Given the description of an element on the screen output the (x, y) to click on. 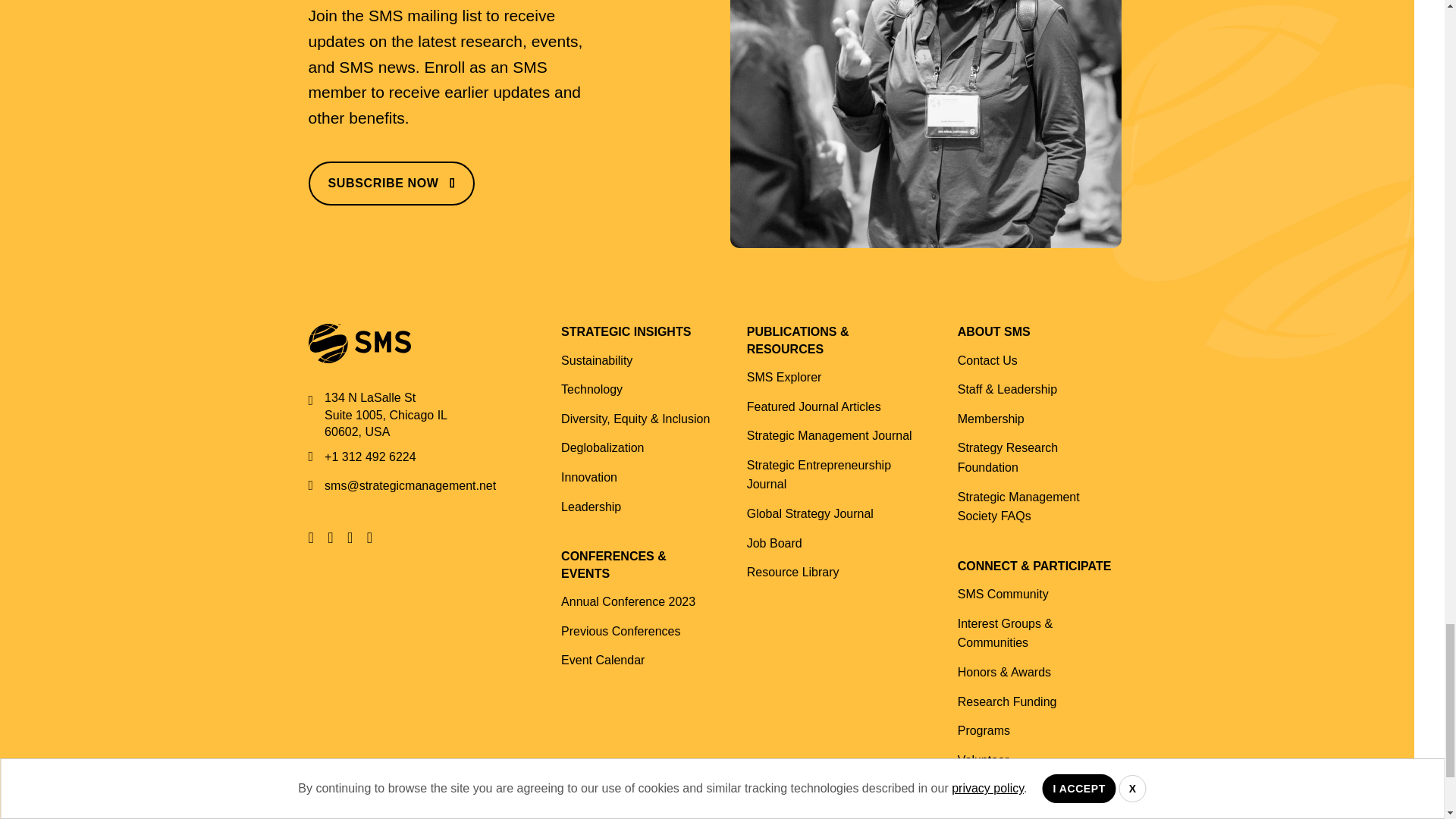
Global Footer SMS (925, 124)
black-logo-sms (358, 343)
